Given the description of an element on the screen output the (x, y) to click on. 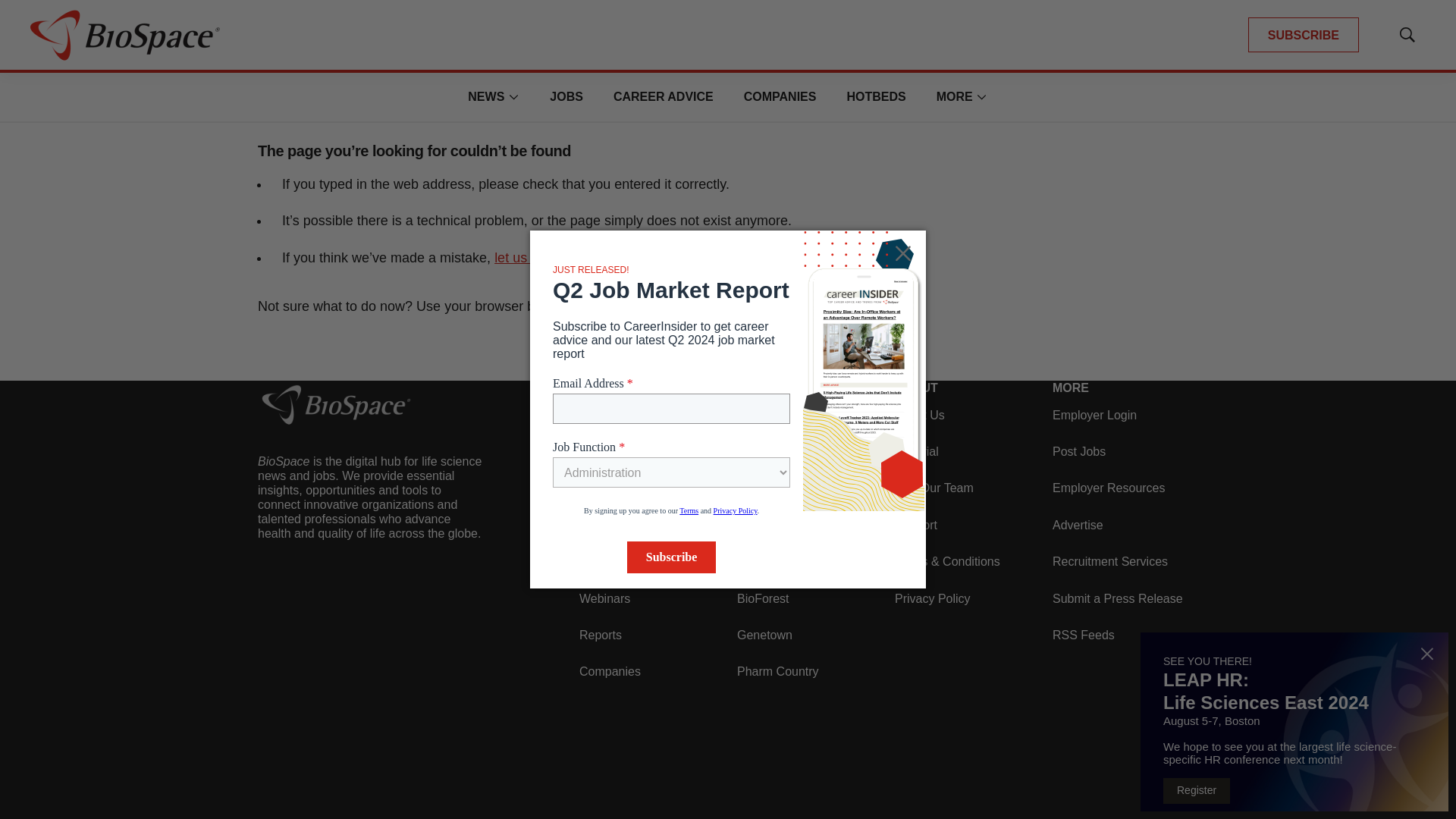
Popup CTA (1294, 574)
